Given the description of an element on the screen output the (x, y) to click on. 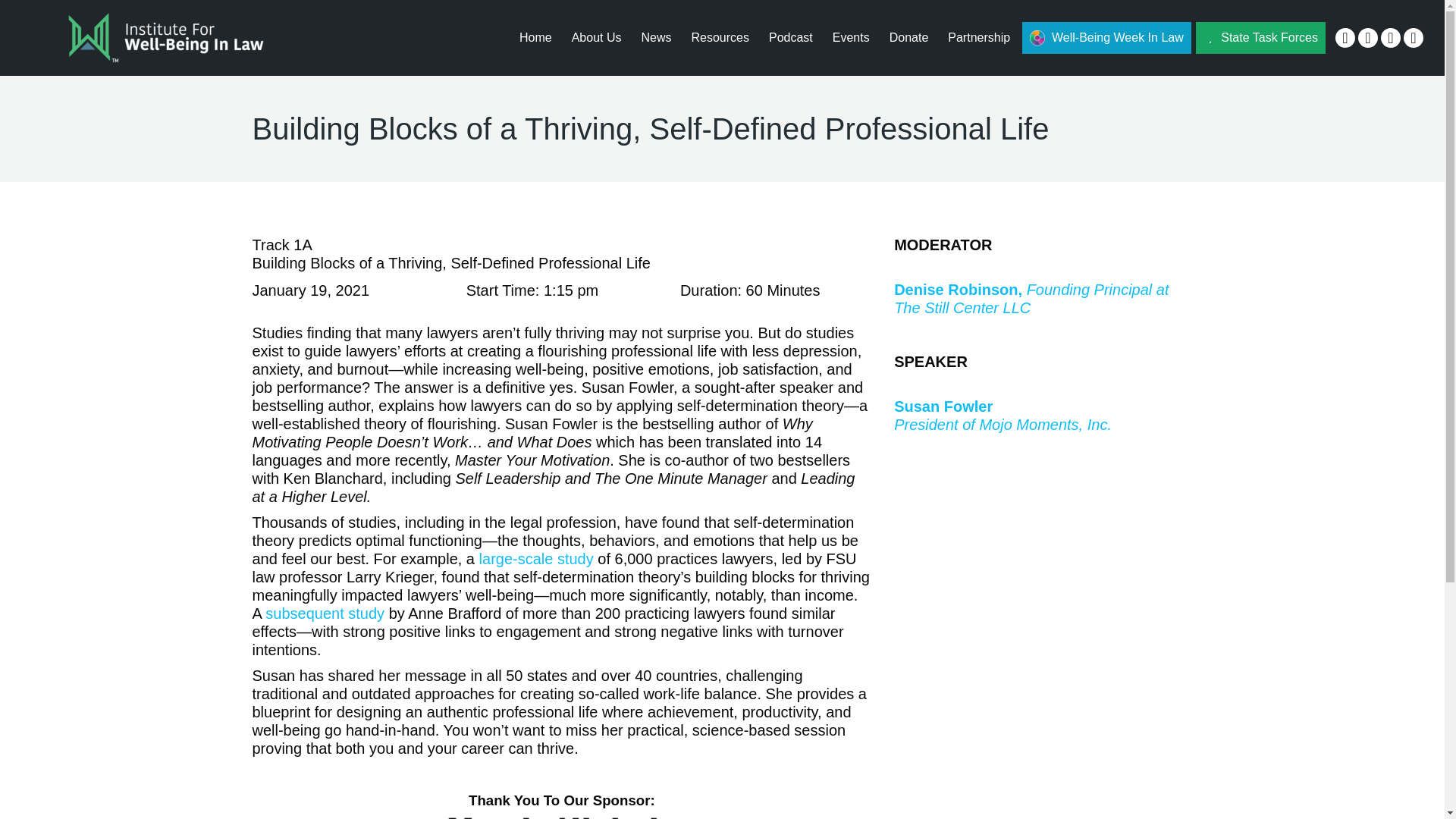
Instagram page opens in new window (1390, 37)
Linkedin page opens in new window (1345, 37)
Partnership (978, 38)
News (655, 38)
About Us (596, 38)
Twitter page opens in new window (1367, 37)
Instagram page opens in new window (1390, 37)
State Task Forces (1259, 38)
YouTube page opens in new window (1413, 37)
Susan Fowler (942, 406)
Home (535, 38)
Twitter page opens in new window (1367, 37)
YouTube page opens in new window (1413, 37)
Podcast (791, 38)
Donate (909, 38)
